Given the description of an element on the screen output the (x, y) to click on. 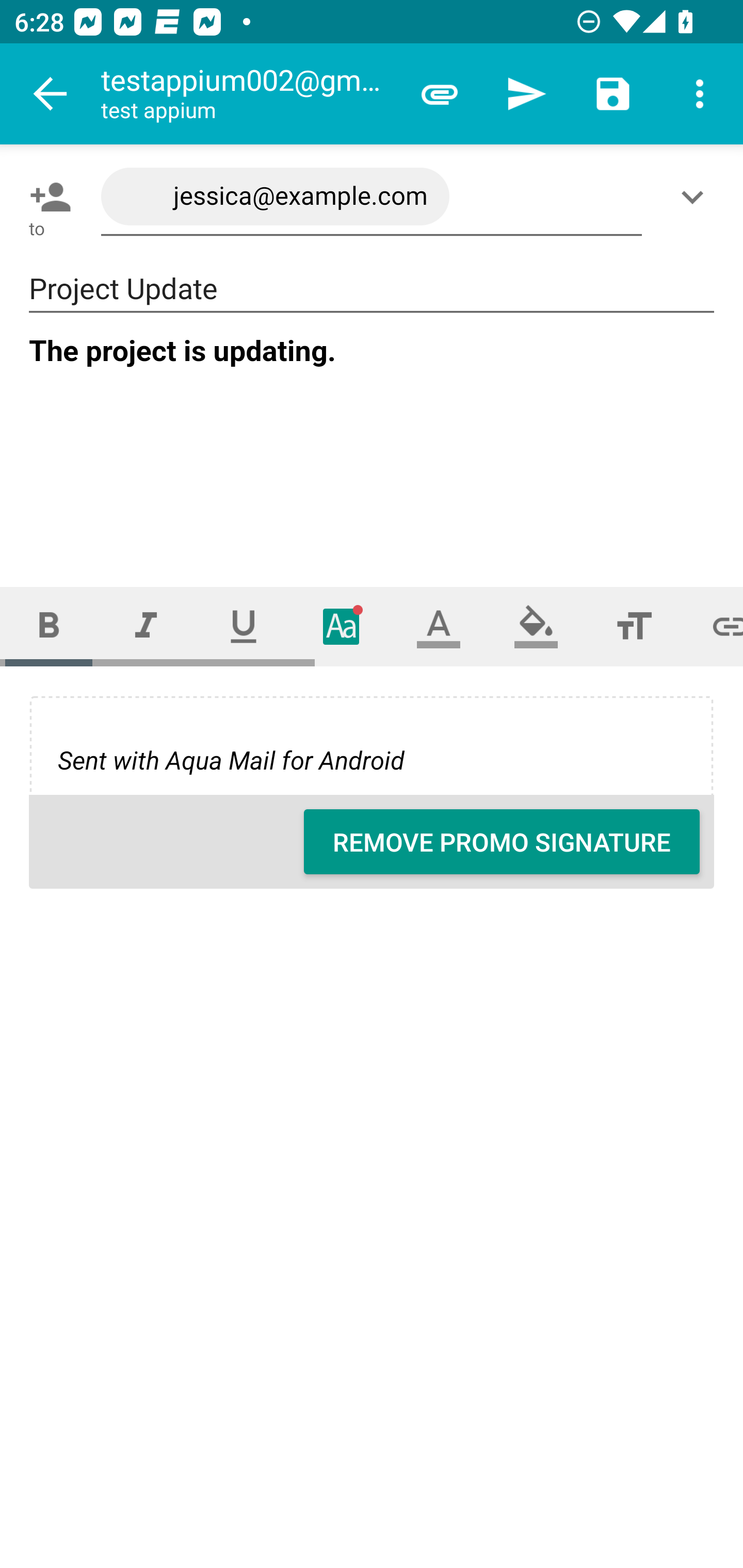
Navigate up (50, 93)
testappium002@gmail.com test appium (248, 93)
Attach (439, 93)
Send (525, 93)
Save (612, 93)
More options (699, 93)
jessica@example.com,  (371, 197)
Pick contact: To (46, 196)
Show/Add CC/BCC (696, 196)
Project Update (371, 288)
The project is updating. (372, 442)
Bold (48, 626)
Italic (145, 626)
Underline (243, 626)
Typeface (font) (341, 626)
Text color (438, 626)
Fill color (536, 626)
Font size (633, 626)
REMOVE PROMO SIGNATURE (501, 841)
